Given the description of an element on the screen output the (x, y) to click on. 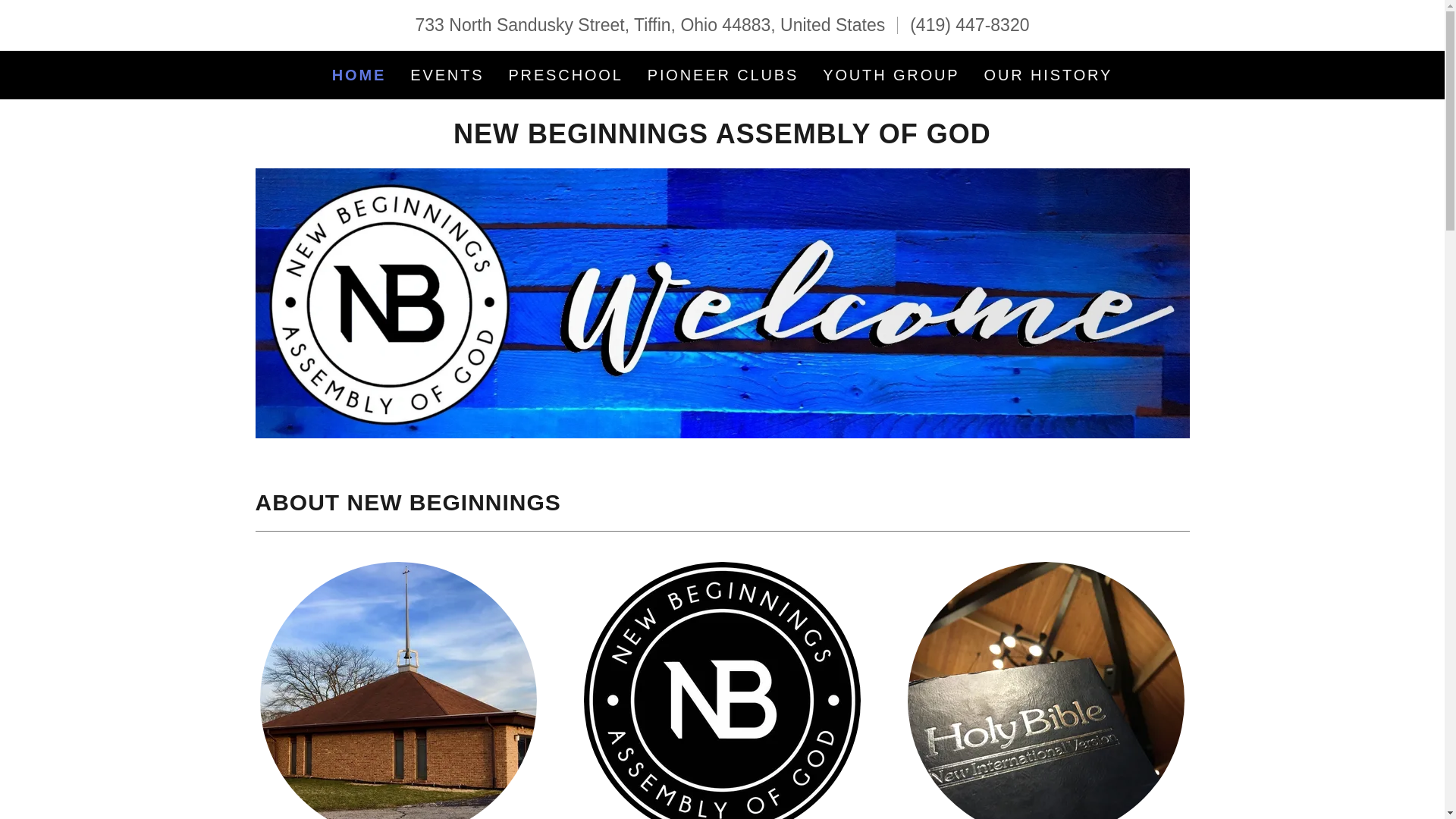
PRESCHOOL (565, 73)
OUR HISTORY (1048, 73)
EVENTS (446, 73)
NEW BEGINNINGS ASSEMBLY OF GOD (721, 137)
New Beginnings Assembly of GOd (721, 137)
HOME (358, 74)
PIONEER CLUBS (723, 73)
YOUTH GROUP (890, 73)
